Given the description of an element on the screen output the (x, y) to click on. 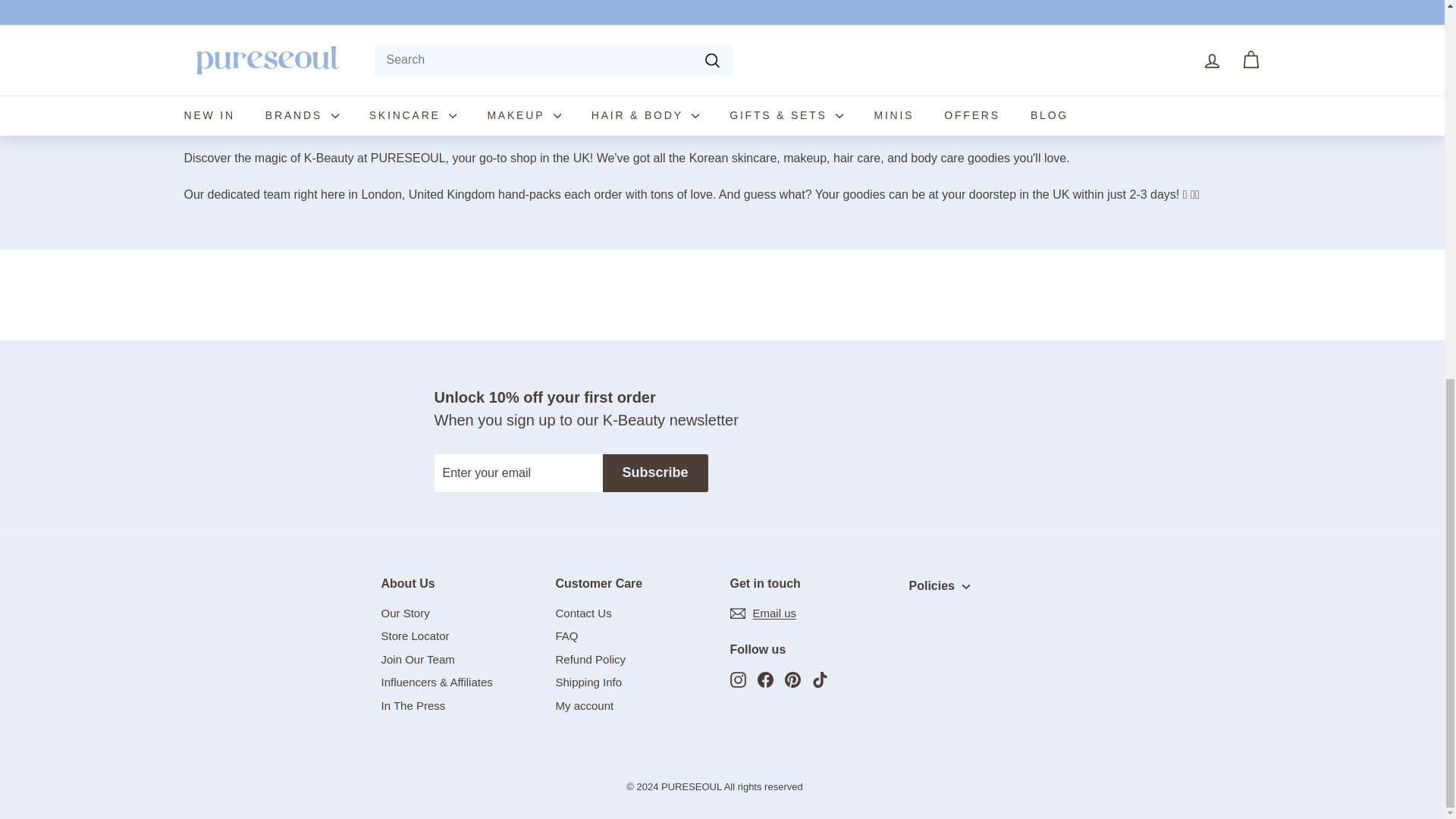
PURESEOUL on TikTok (818, 678)
PURESEOUL on Instagram (737, 678)
instagram (737, 679)
PURESEOUL on Pinterest (791, 678)
PURESEOUL on Facebook (765, 678)
